Given the description of an element on the screen output the (x, y) to click on. 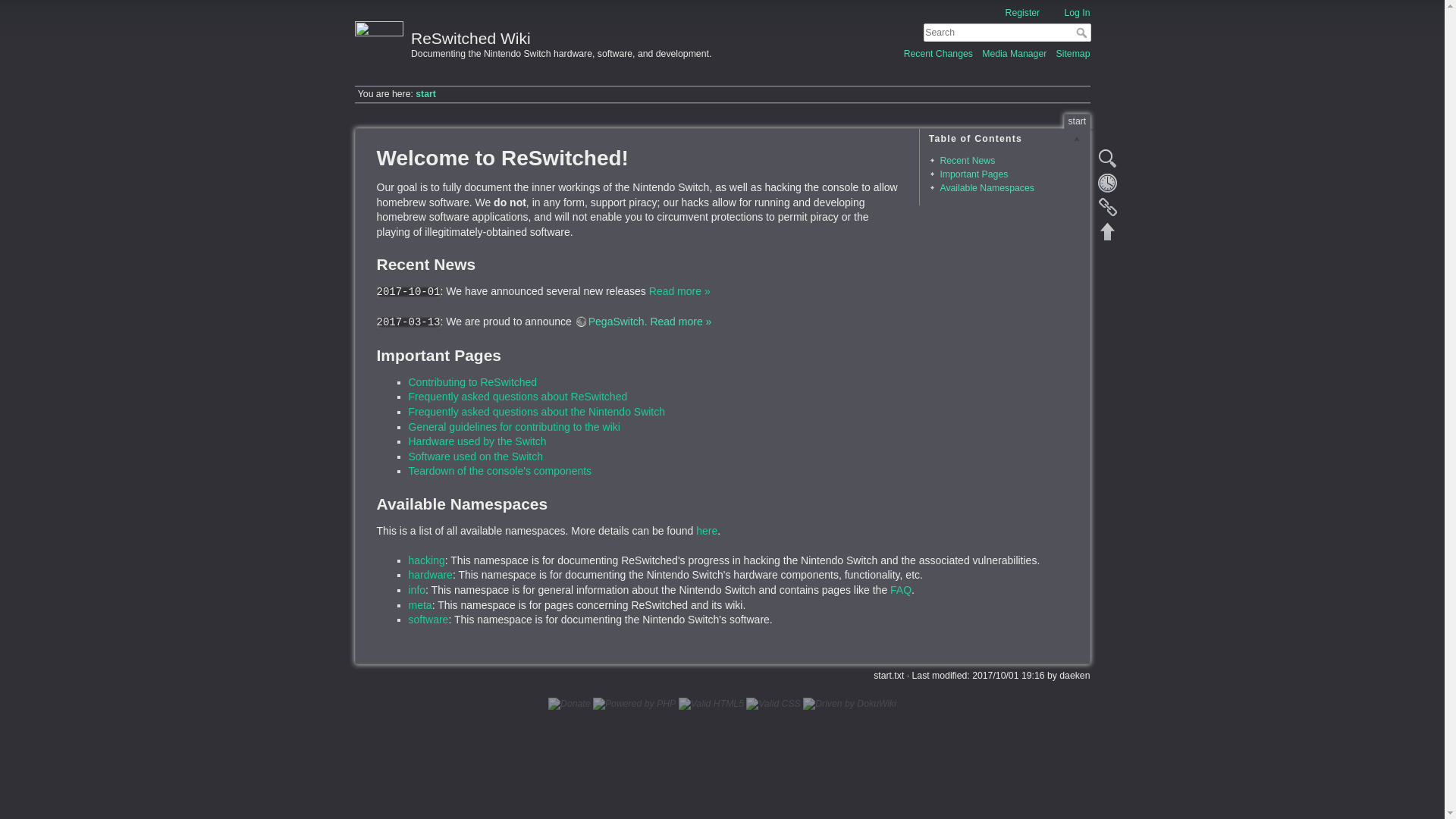
hardware (429, 574)
hacking (425, 560)
Frequently asked questions about ReSwitched (517, 396)
start (424, 93)
meta:contributing (472, 381)
Frequently asked questions about the Nintendo Switch (536, 411)
Important Pages (973, 173)
Recent News (966, 160)
Log In (1068, 12)
octrelease (679, 291)
Media Manager (1013, 53)
Search (1082, 32)
Log In (1068, 12)
meta:faq (517, 396)
Contributing to ReSwitched (472, 381)
